Given the description of an element on the screen output the (x, y) to click on. 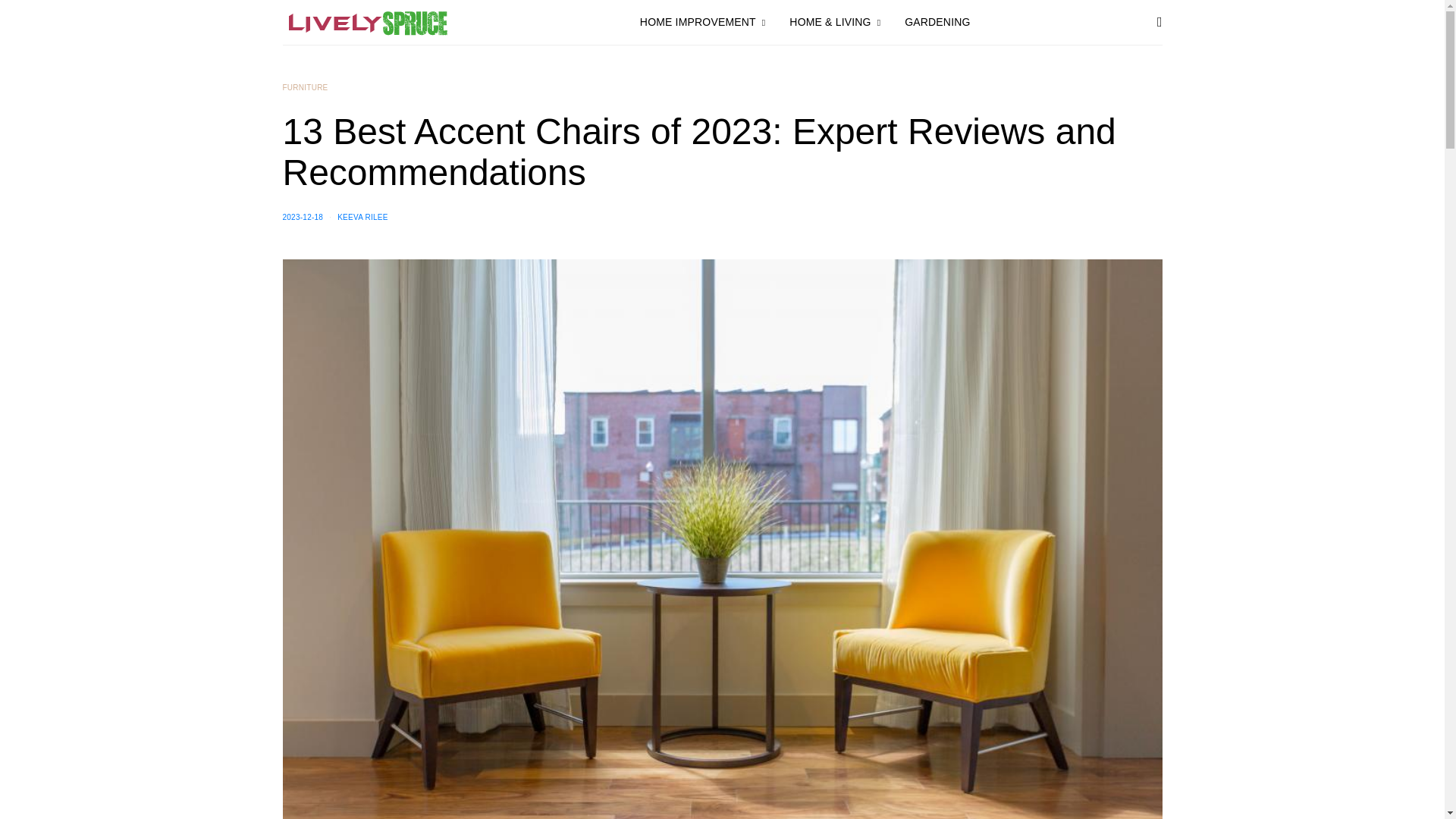
View all posts by Keeva Rilee (362, 216)
